Given the description of an element on the screen output the (x, y) to click on. 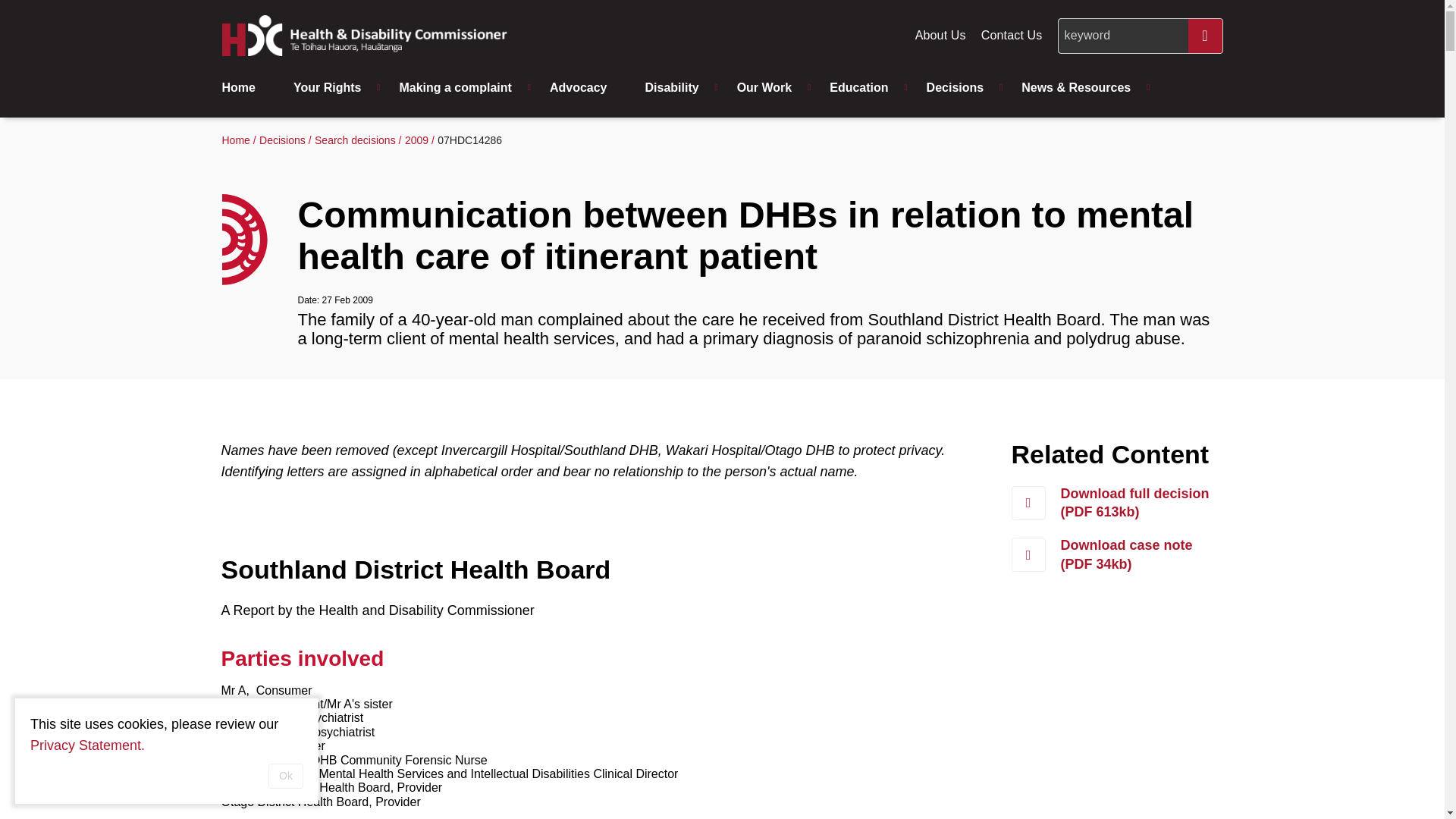
Privacy Statement (87, 744)
Making a complaint (459, 87)
Home (249, 87)
Your Rights (331, 87)
Education (862, 87)
Disability (674, 87)
Our Work (768, 87)
Advocacy (582, 87)
